Given the description of an element on the screen output the (x, y) to click on. 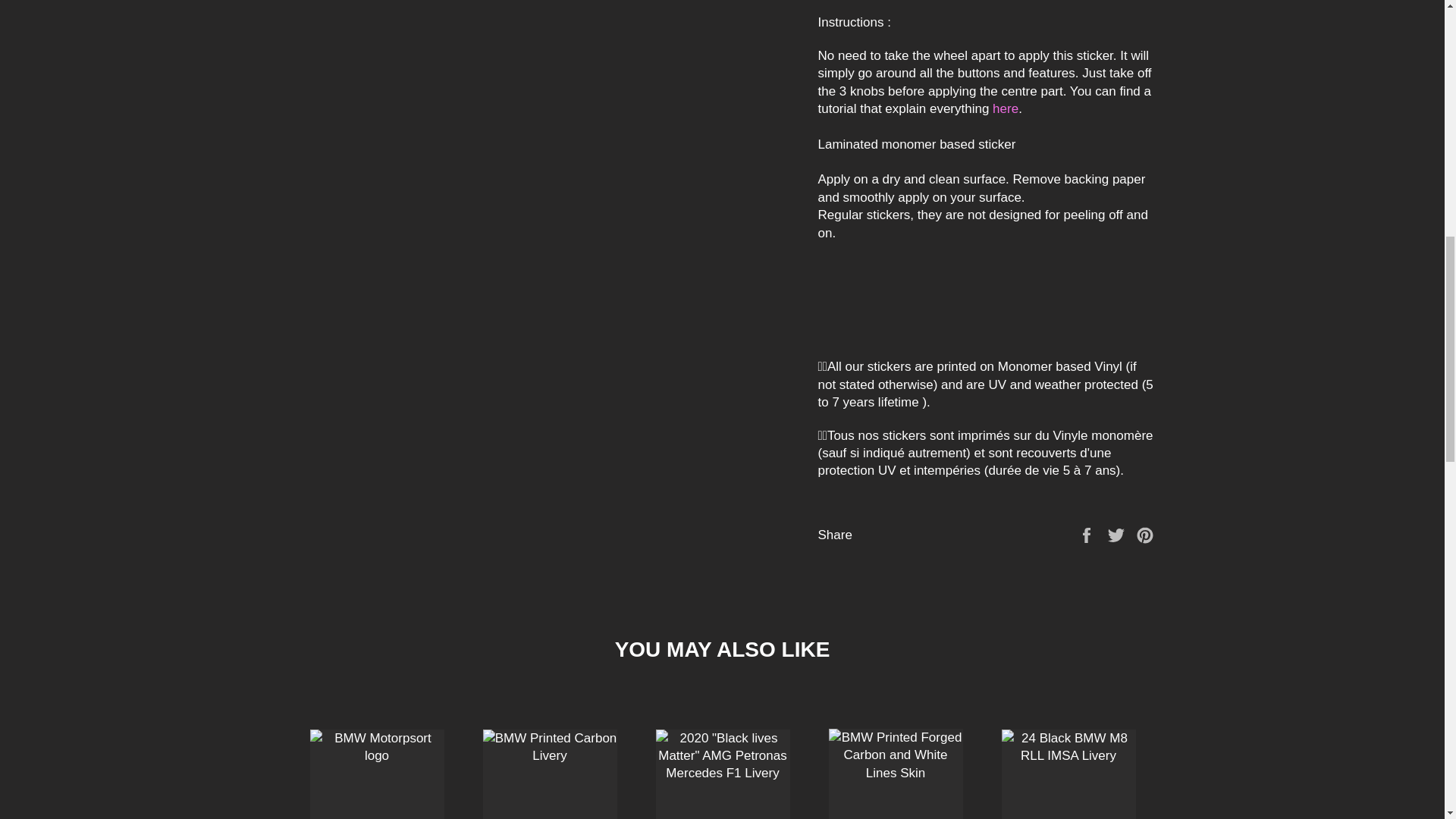
Tweet on Twitter (1117, 534)
Pin on Pinterest (1144, 534)
Share on Facebook (1088, 534)
